Given the description of an element on the screen output the (x, y) to click on. 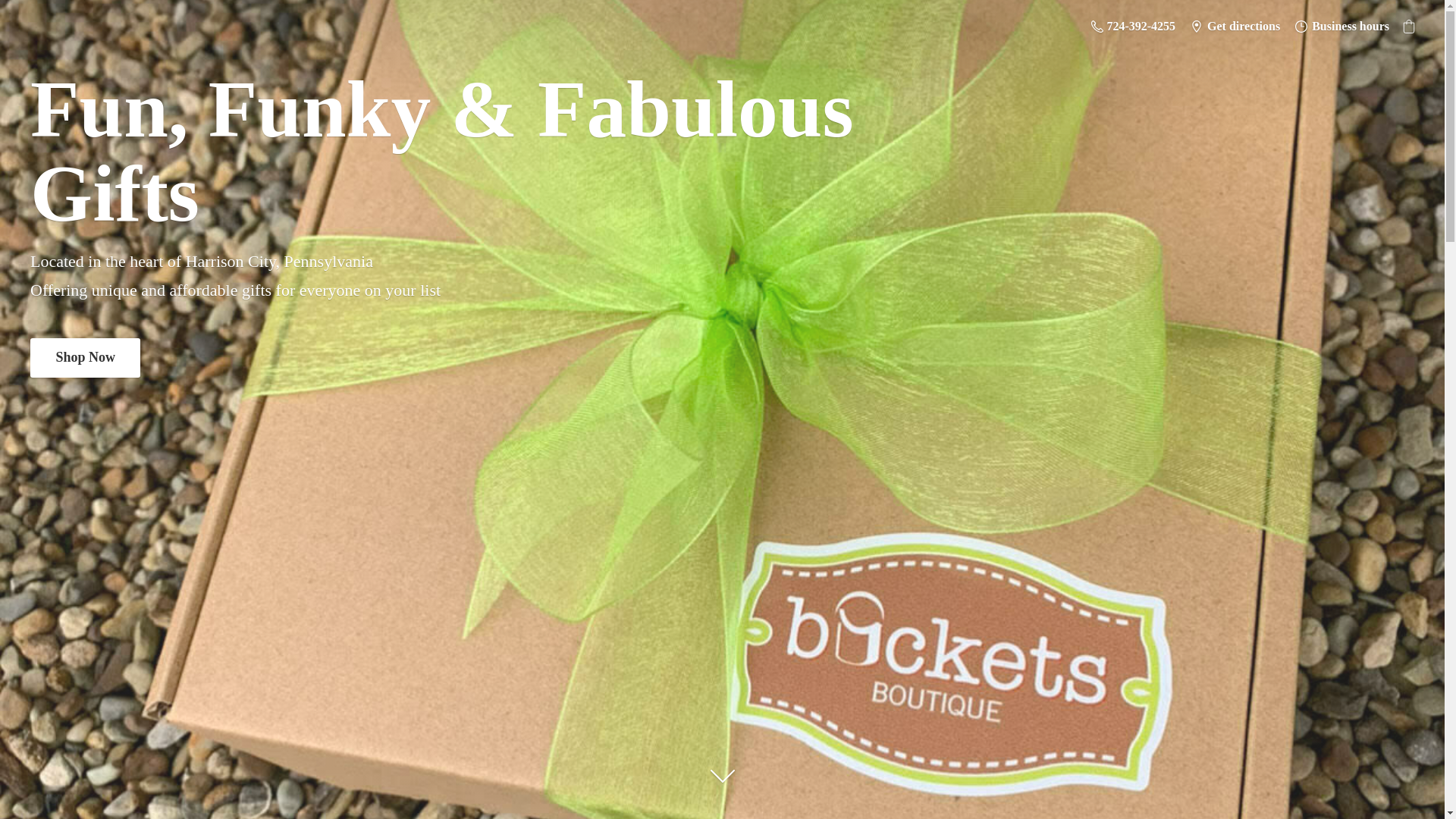
Business hours (1341, 26)
Get directions (1234, 26)
724-392-4255 (1132, 26)
Shop Now (84, 357)
